Given the description of an element on the screen output the (x, y) to click on. 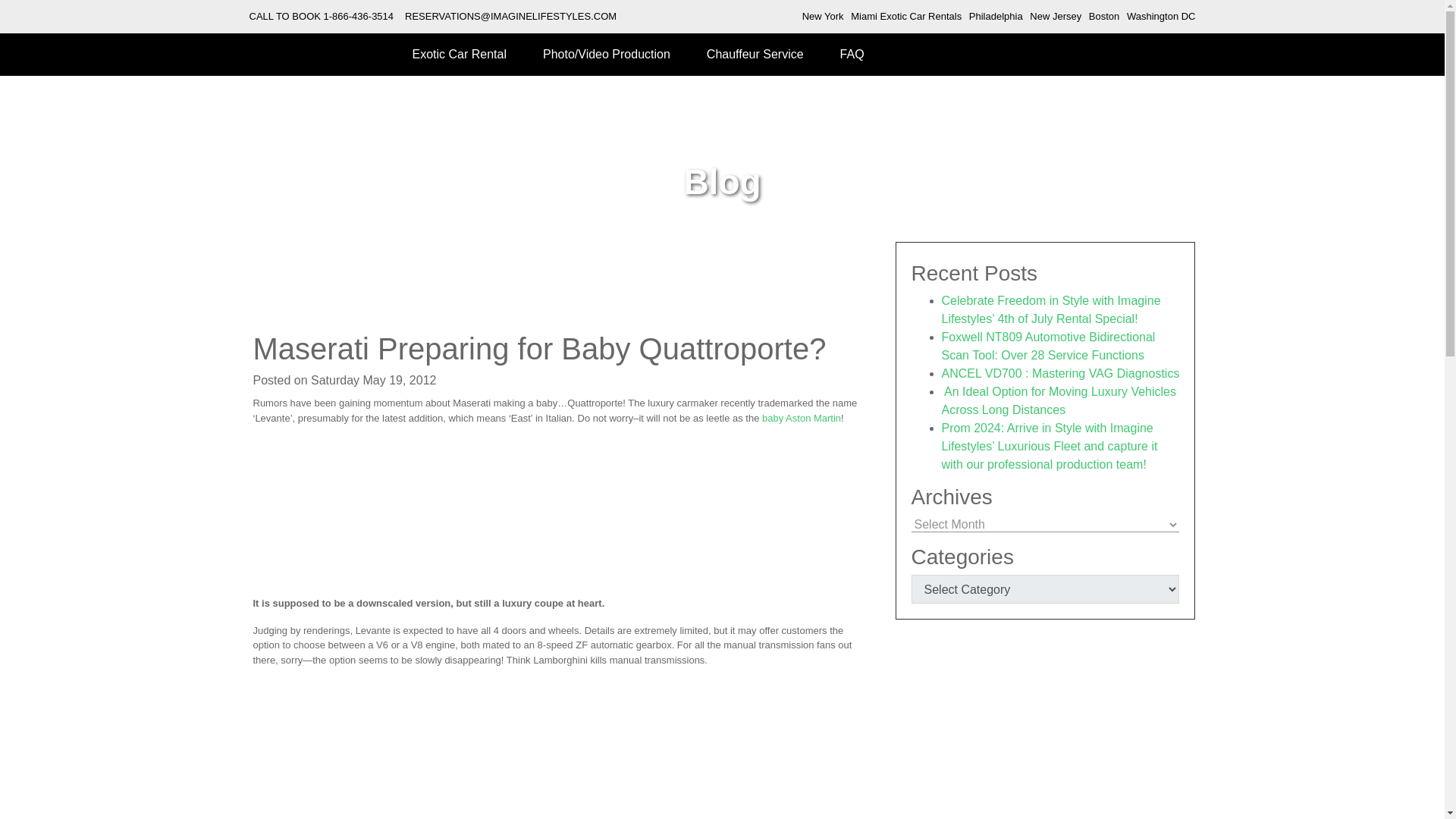
Exotic Car Rental (459, 54)
New Jersey (1055, 16)
New York (823, 16)
Chauffeur Service (755, 54)
Washington DC (1160, 16)
ANCEL VD700 : Mastering VAG Diagnostics (1060, 373)
FAQ (852, 54)
Miami Exotic Car Rentals (905, 16)
baby Aston Martin (801, 418)
